Given the description of an element on the screen output the (x, y) to click on. 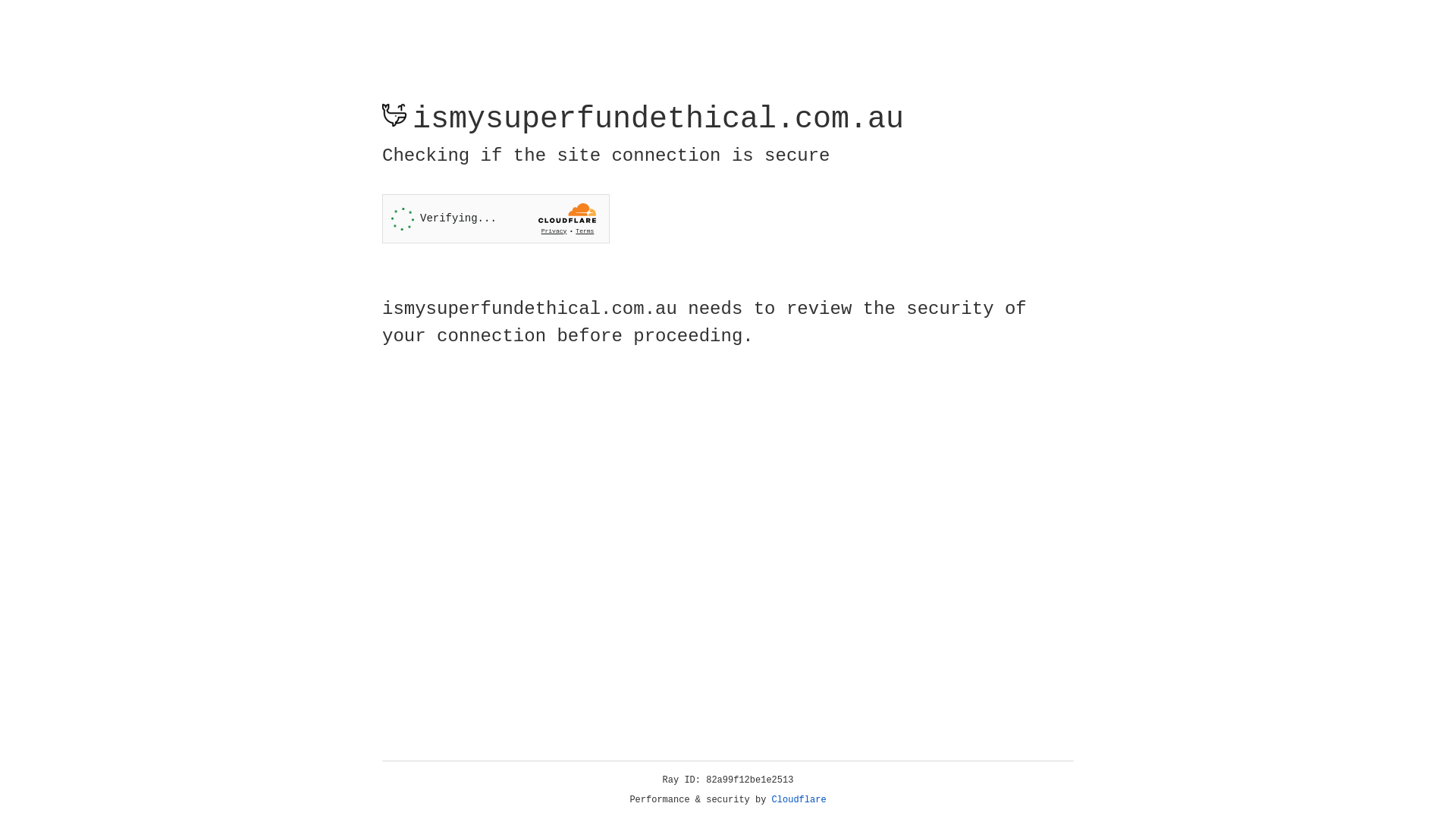
Cloudflare Element type: text (798, 799)
Widget containing a Cloudflare security challenge Element type: hover (495, 218)
